Given the description of an element on the screen output the (x, y) to click on. 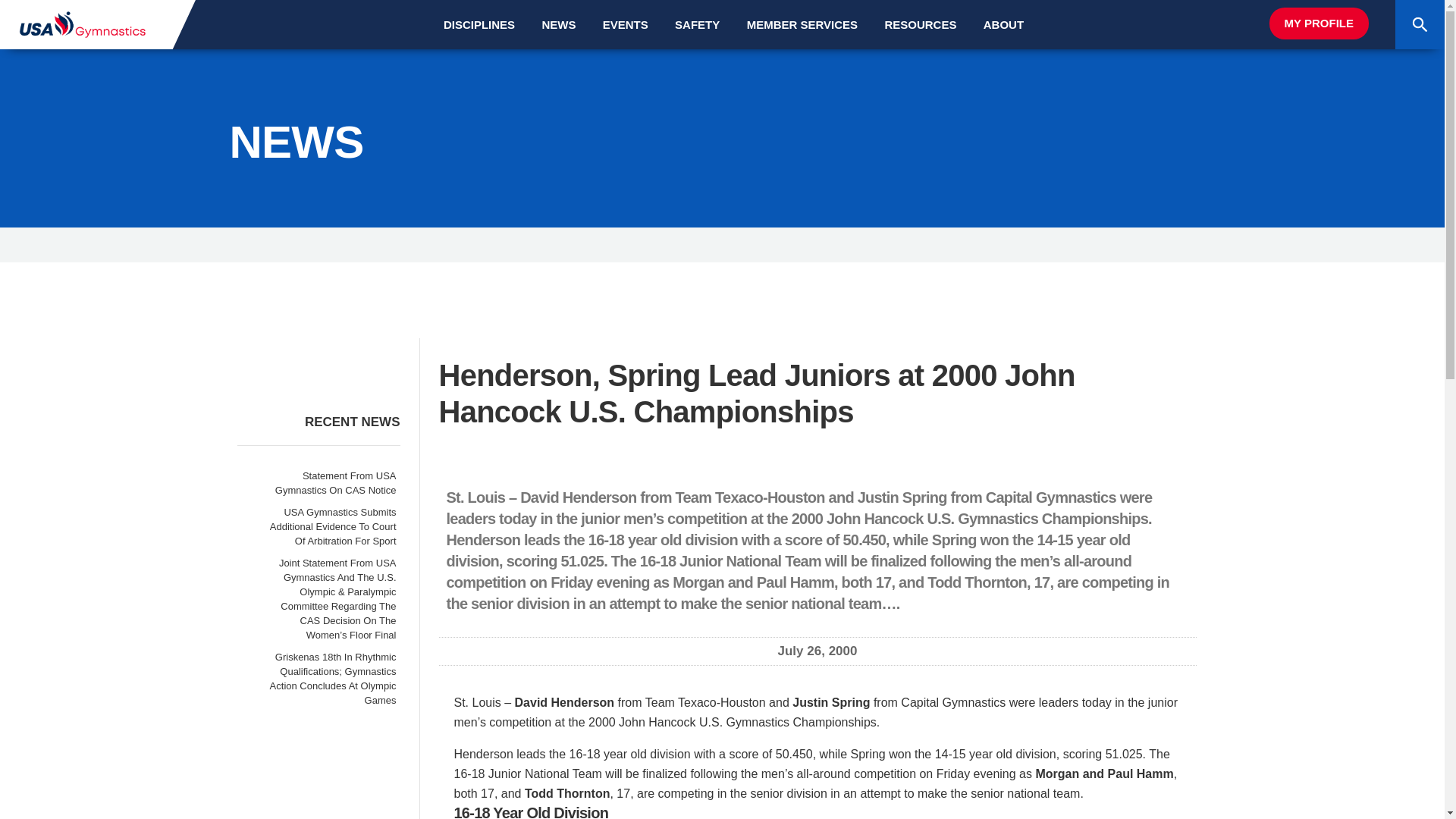
MEMBER SERVICES (802, 24)
ABOUT (1002, 24)
SAFETY (696, 24)
RESOURCES (919, 24)
NEWS (557, 24)
EVENTS (624, 24)
DISCIPLINES (479, 24)
